Given the description of an element on the screen output the (x, y) to click on. 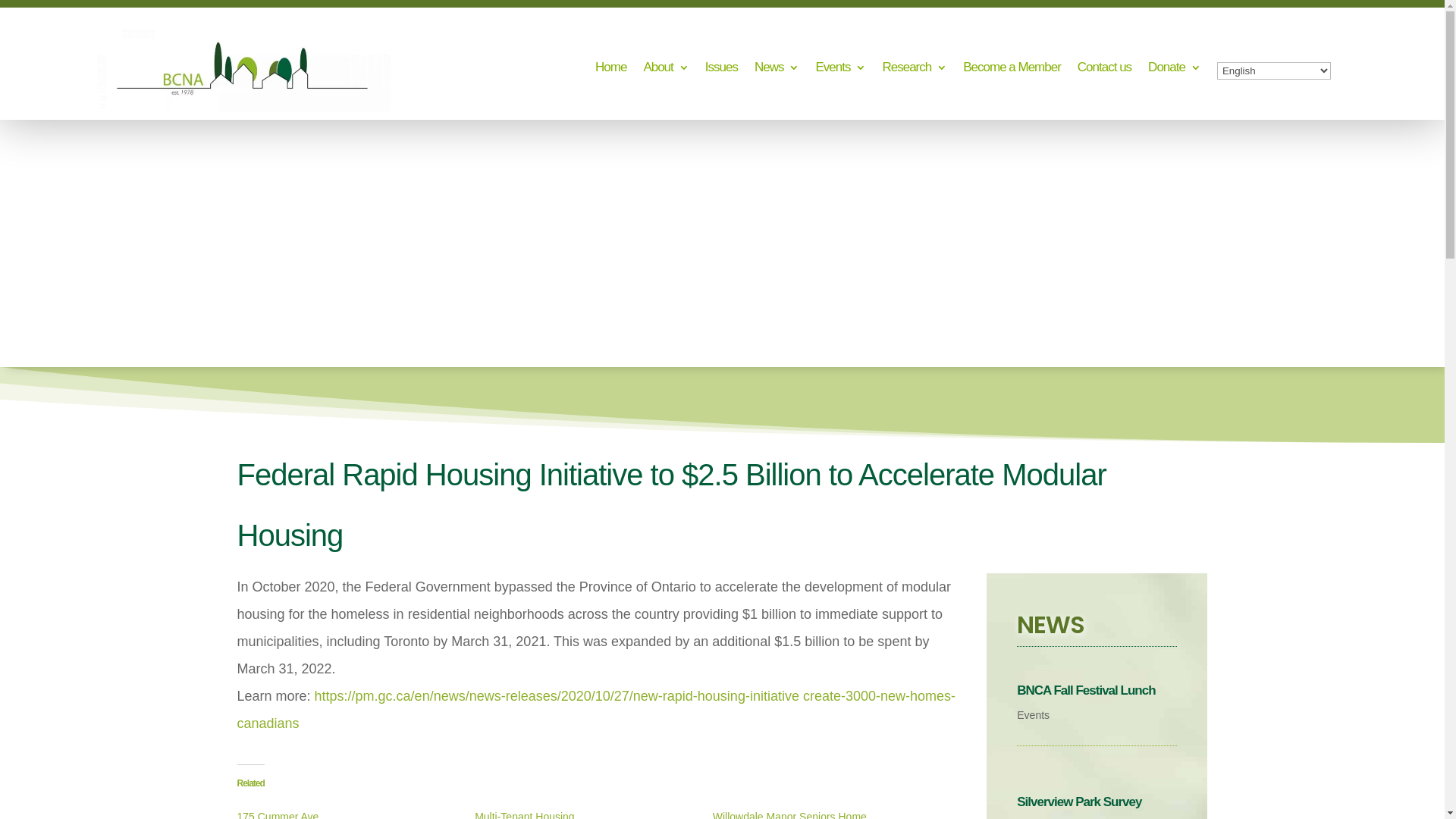
BCNA-logo Element type: hover (240, 66)
News Element type: text (776, 70)
Issues Element type: text (721, 70)
Events Element type: text (840, 70)
Contact us Element type: text (1104, 70)
Become a Member Element type: text (1011, 70)
Silverview Park Survey Element type: text (1078, 801)
Donate Element type: text (1174, 70)
Home Element type: text (610, 70)
About Element type: text (665, 70)
BNCA Fall Festival Lunch Element type: text (1085, 689)
Research Element type: text (913, 70)
Events Element type: text (1032, 715)
